Given the description of an element on the screen output the (x, y) to click on. 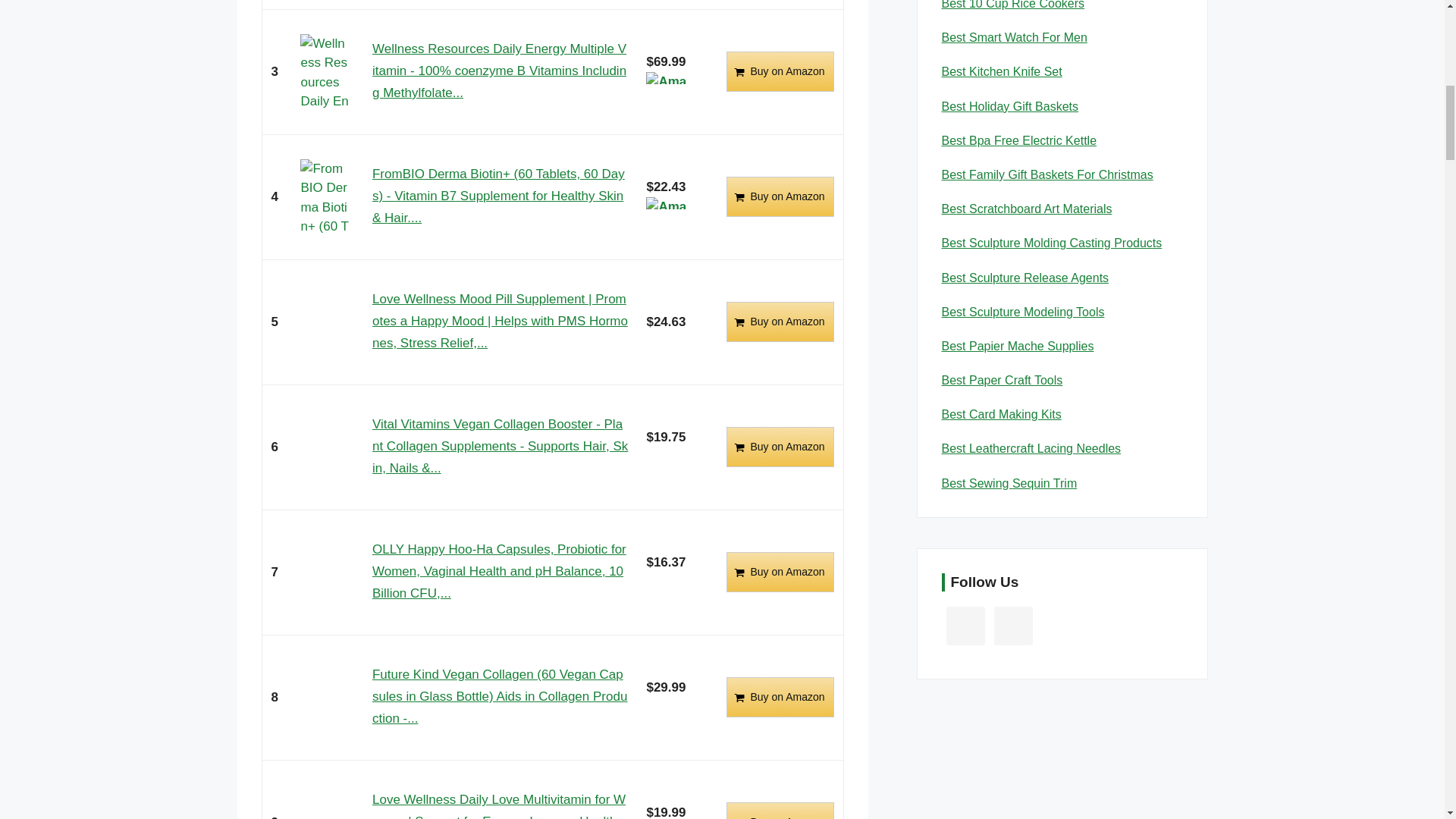
Buy on Amazon (779, 196)
Buy on Amazon (779, 71)
Buy on Amazon (779, 322)
Buy on Amazon (779, 196)
Buy on Amazon (779, 322)
Amazon Prime (666, 81)
Amazon Prime (666, 206)
Buy on Amazon (779, 446)
Buy on Amazon (779, 572)
